Given the description of an element on the screen output the (x, y) to click on. 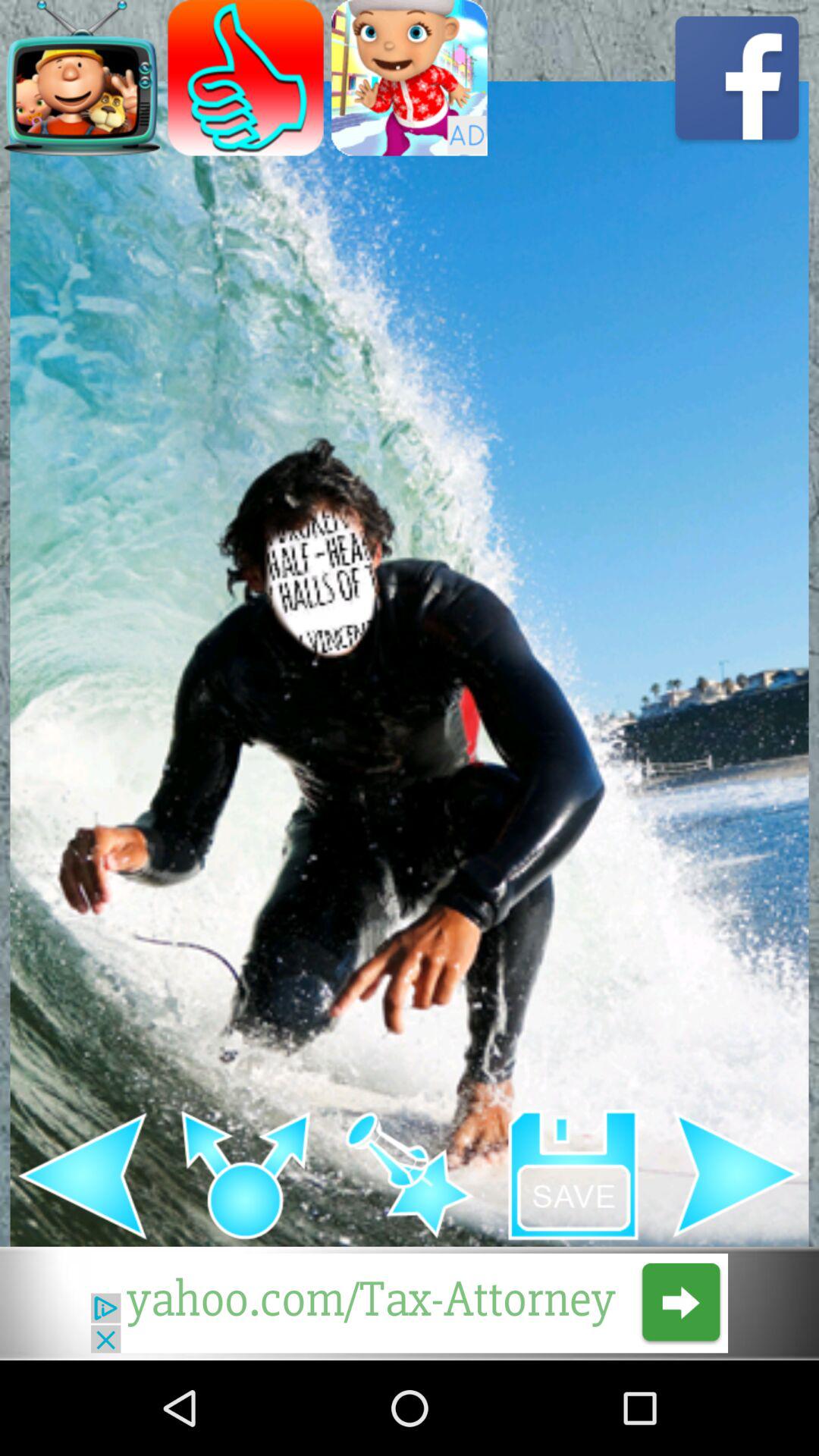
thubs up (245, 77)
